Given the description of an element on the screen output the (x, y) to click on. 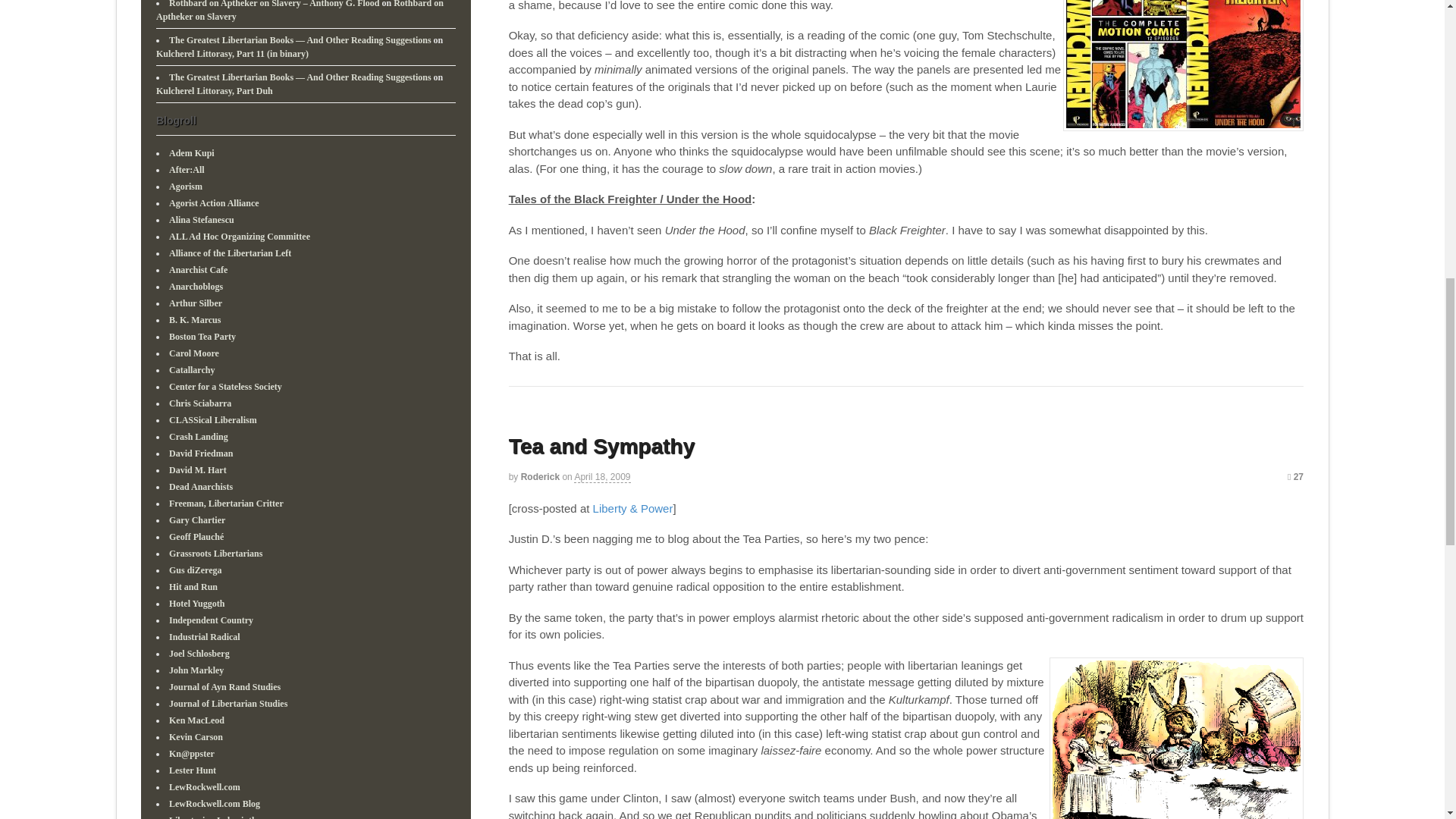
Roderick (540, 476)
2009-04-18T13:32:27-0500 (601, 477)
Tea and Sympathy (601, 445)
mad tea party (1176, 738)
27 (1295, 476)
Rothbard on Aptheker on Slavery (299, 11)
Motion Comic and Black Freighter (1182, 65)
Posts by Roderick (540, 476)
Tea and Sympathy (601, 445)
